Given the description of an element on the screen output the (x, y) to click on. 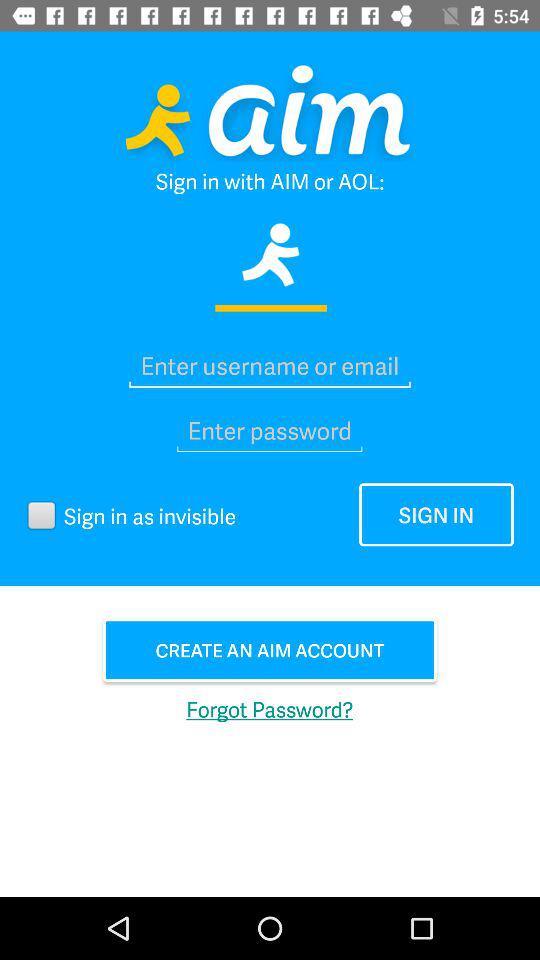
flip until create an aim icon (269, 649)
